Given the description of an element on the screen output the (x, y) to click on. 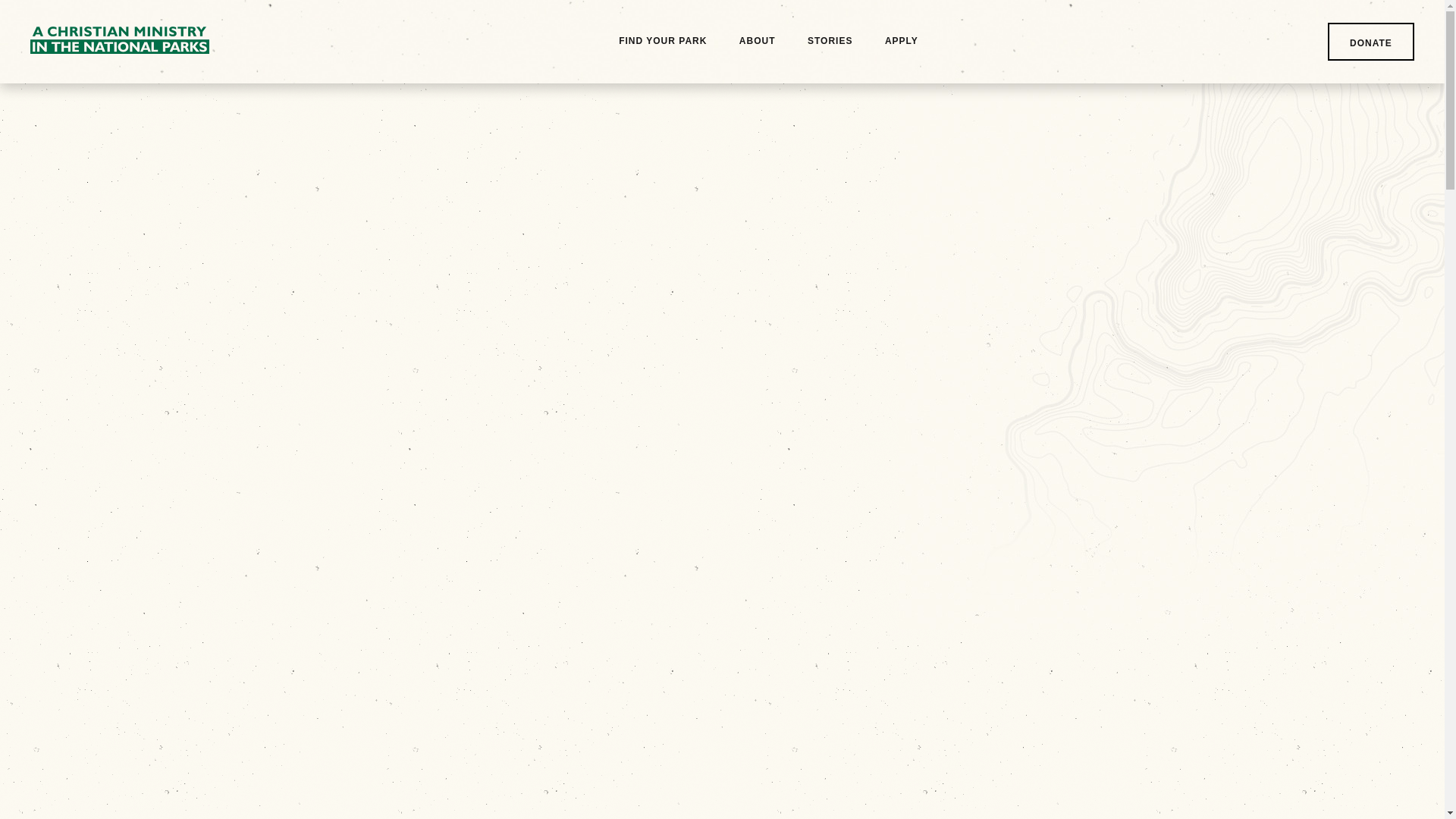
DONATE (1370, 41)
FIND YOUR PARK (662, 41)
ABOUT (757, 41)
APPLY (901, 41)
STORIES (829, 41)
